Given the description of an element on the screen output the (x, y) to click on. 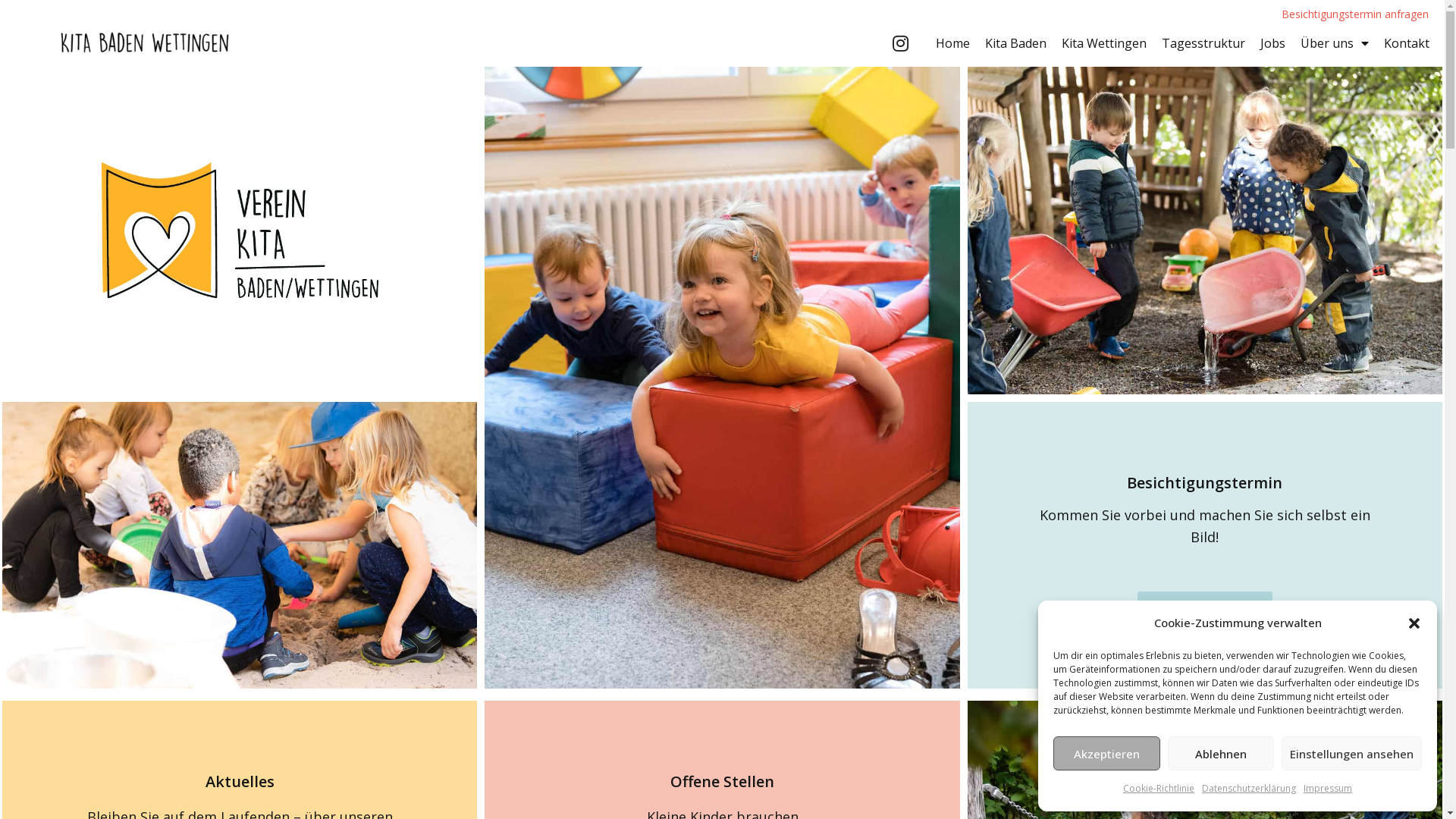
Kontakt Element type: text (1406, 42)
Besichtigungstermin anfragen Element type: text (1354, 14)
Ablehnen Element type: text (1220, 753)
Home Element type: text (952, 42)
Cookie-Richtlinie Element type: text (1158, 789)
Impressum Element type: text (1327, 789)
Einstellungen ansehen Element type: text (1351, 753)
Kita Wettingen Element type: text (1104, 42)
Tagesstruktur Element type: text (1203, 42)
Jobs Element type: text (1272, 42)
Kita Baden Element type: text (1015, 42)
Akzeptieren Element type: text (1106, 753)
Jetzt vereinbaren Element type: text (1204, 606)
